Given the description of an element on the screen output the (x, y) to click on. 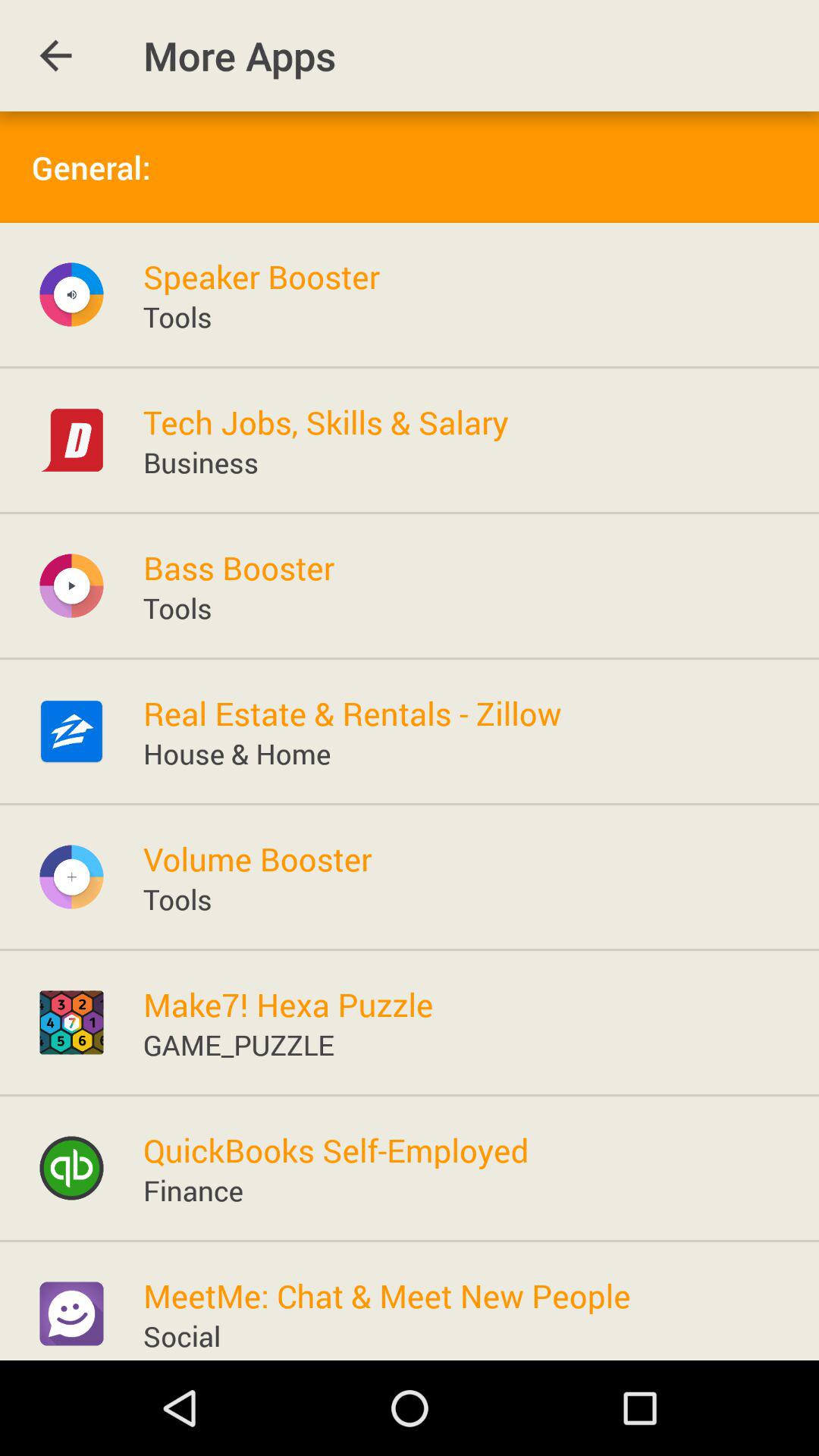
press quickbooks self-employed icon (335, 1149)
